Given the description of an element on the screen output the (x, y) to click on. 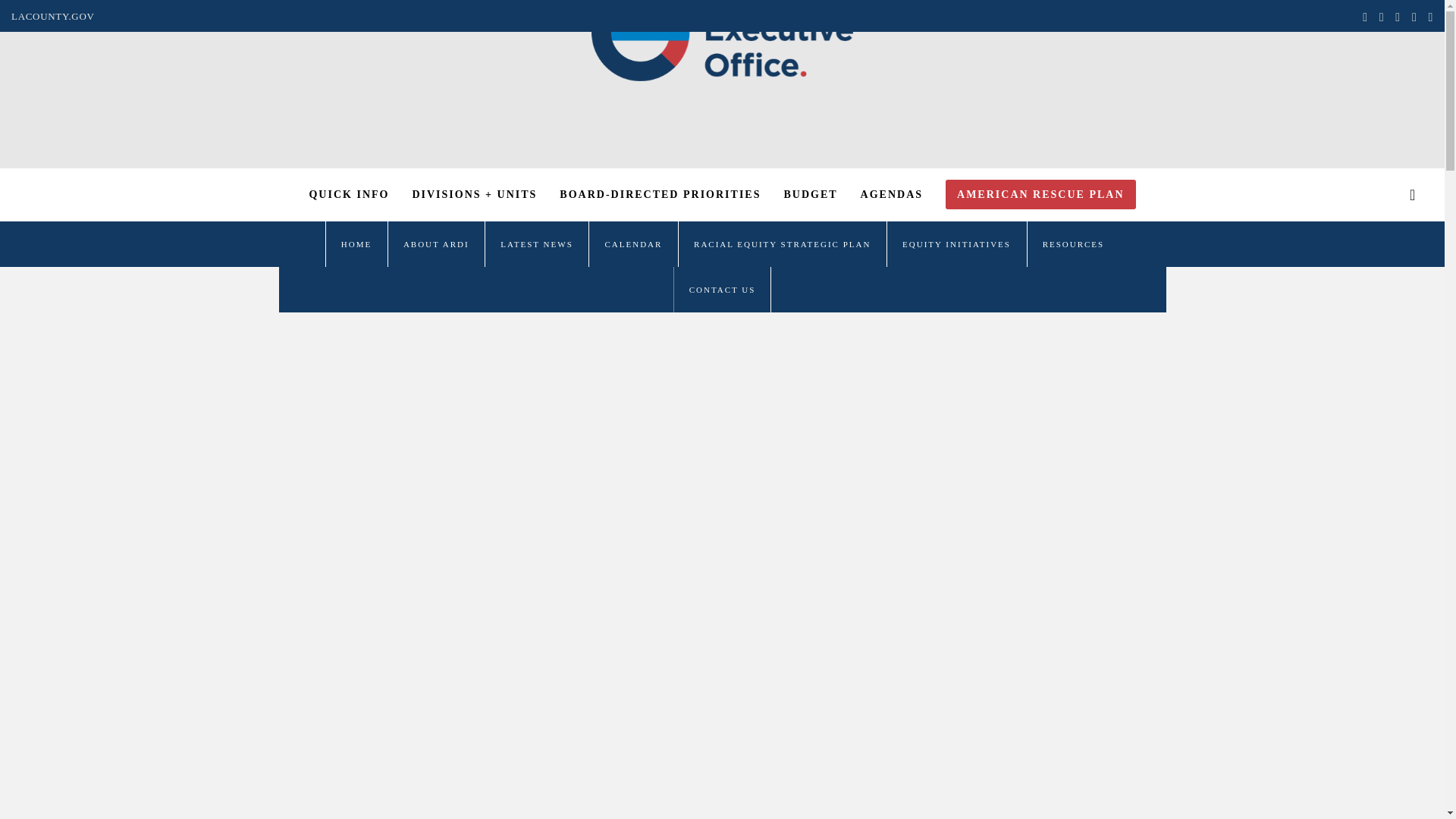
LACOUNTY.GOV (52, 16)
QUICK INFO (348, 194)
